Given the description of an element on the screen output the (x, y) to click on. 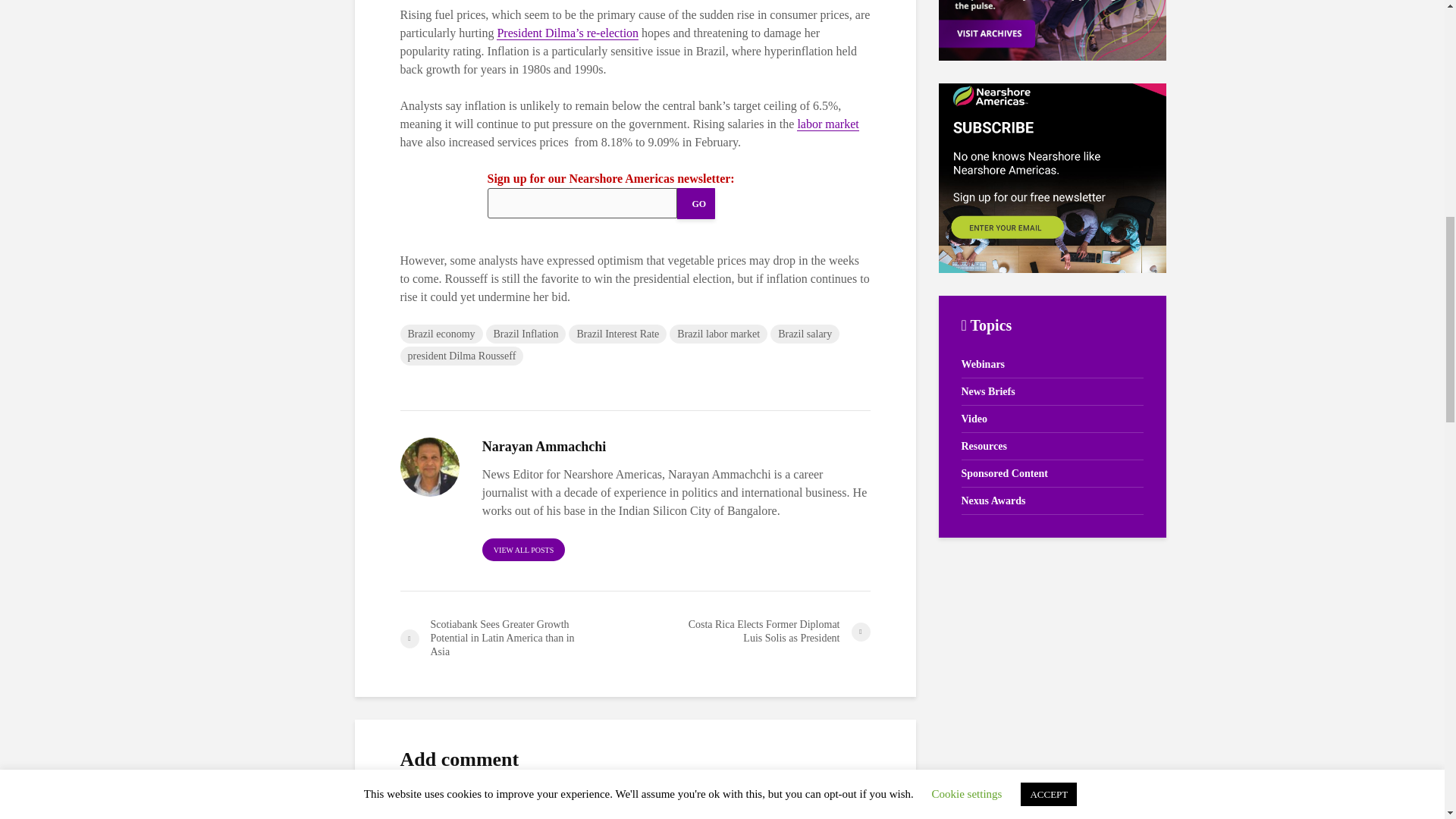
Brazil Inflation (526, 333)
Go (695, 203)
Brazil Interest Rate (617, 333)
Brazil labor market (718, 333)
Brazil economy (441, 333)
labor market (827, 124)
Go (695, 203)
